Given the description of an element on the screen output the (x, y) to click on. 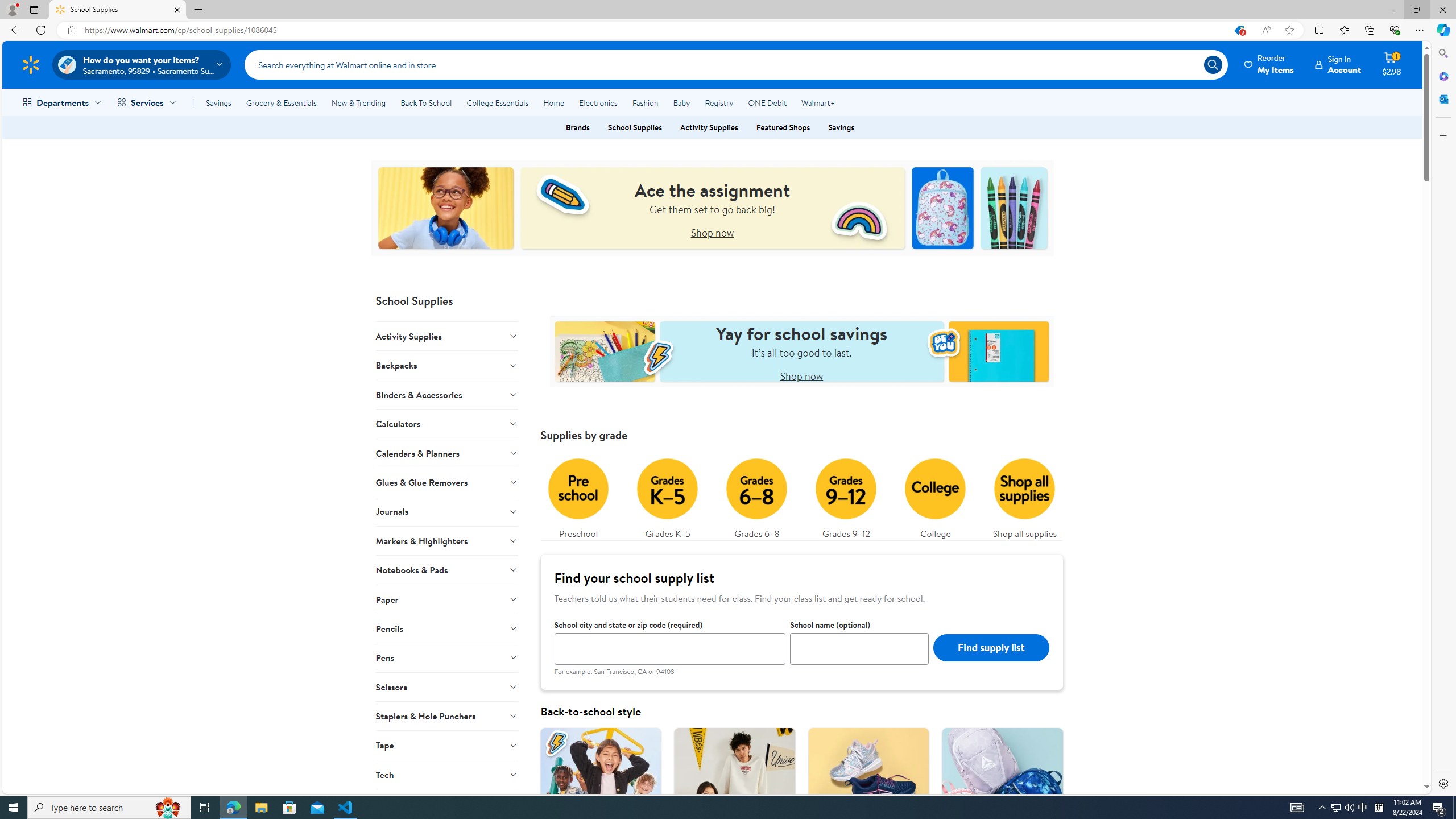
New & Trending (358, 102)
Registry (718, 102)
School Supplies (634, 126)
Markers & Highlighters (446, 540)
ONE Debit (767, 102)
Staplers & Hole Punchers (446, 715)
